Given the description of an element on the screen output the (x, y) to click on. 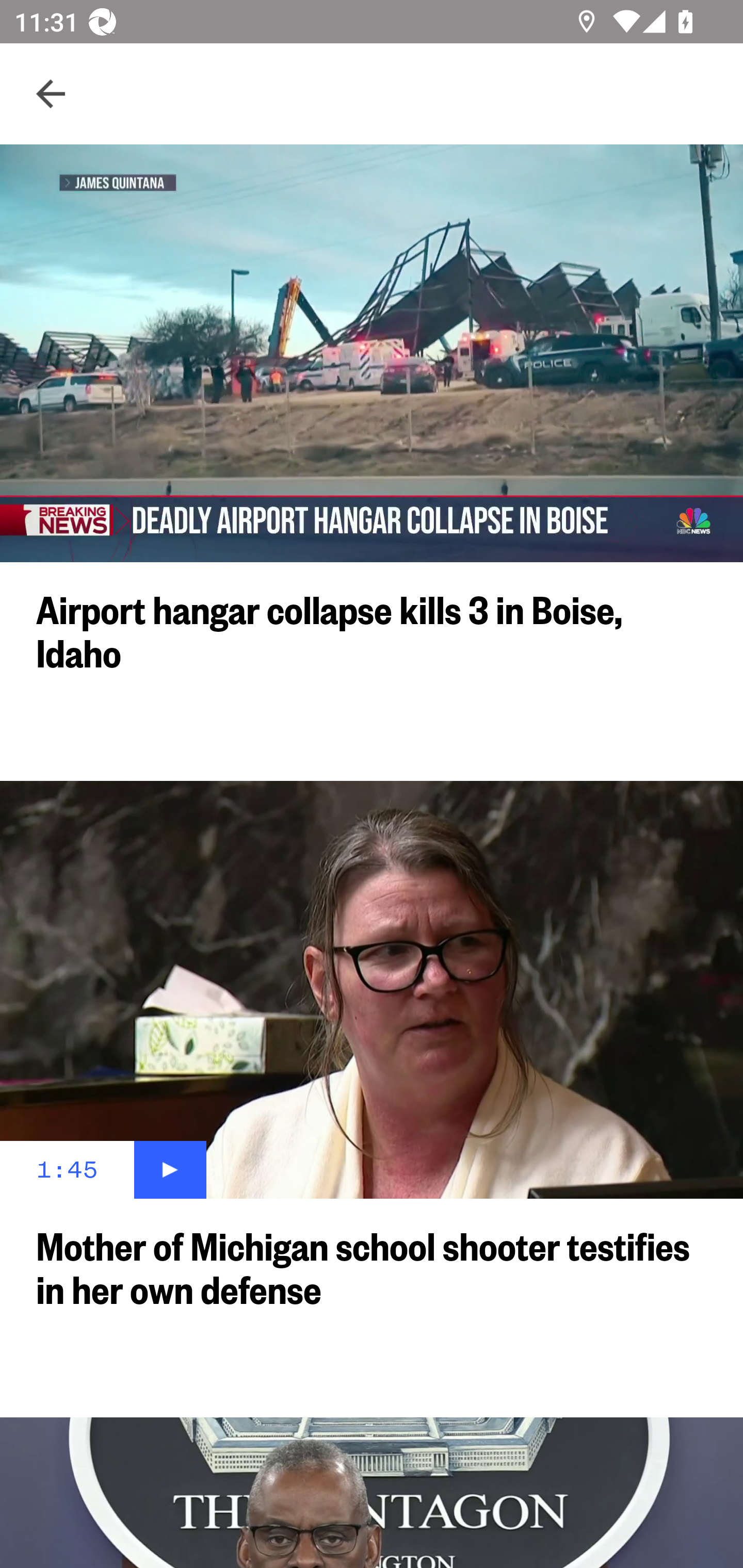
Navigate up (50, 93)
